Given the description of an element on the screen output the (x, y) to click on. 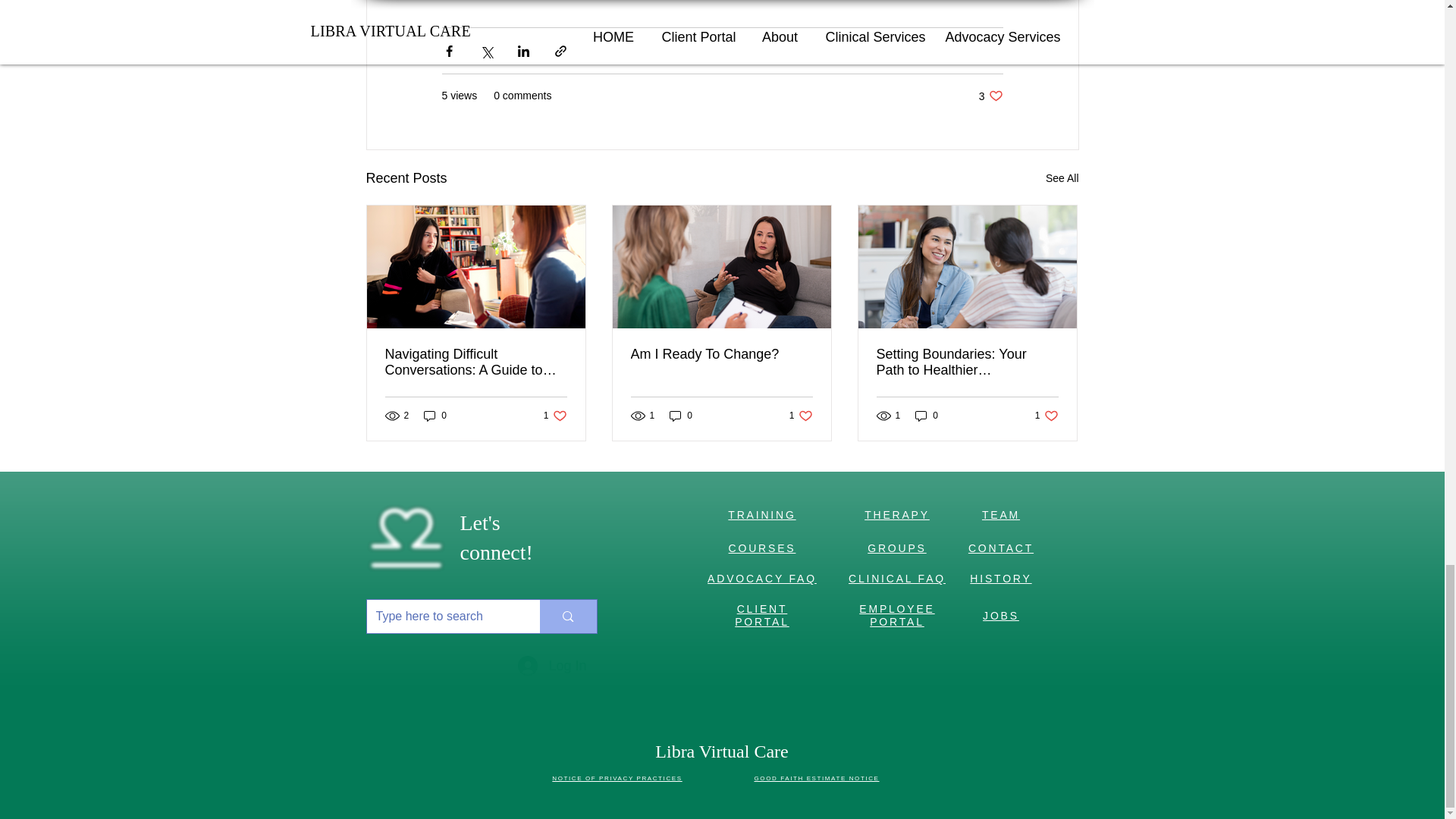
0 (681, 415)
0 (926, 415)
0 (555, 415)
See All (435, 415)
Setting Boundaries: Your Path to Healthier Relationships (800, 415)
